Given the description of an element on the screen output the (x, y) to click on. 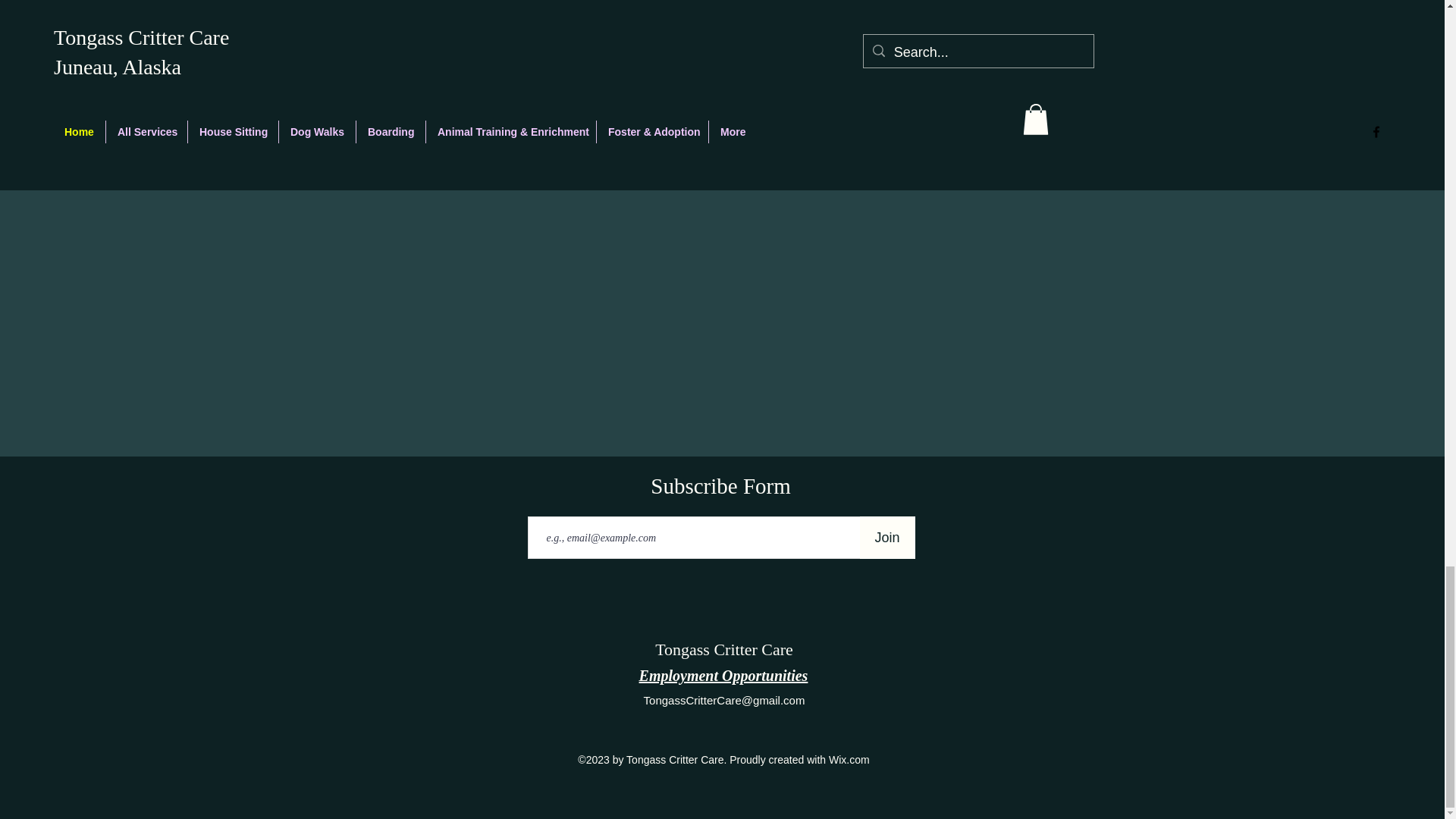
Employment Opportunities (723, 675)
Join (887, 537)
Submit (1043, 62)
